Given the description of an element on the screen output the (x, y) to click on. 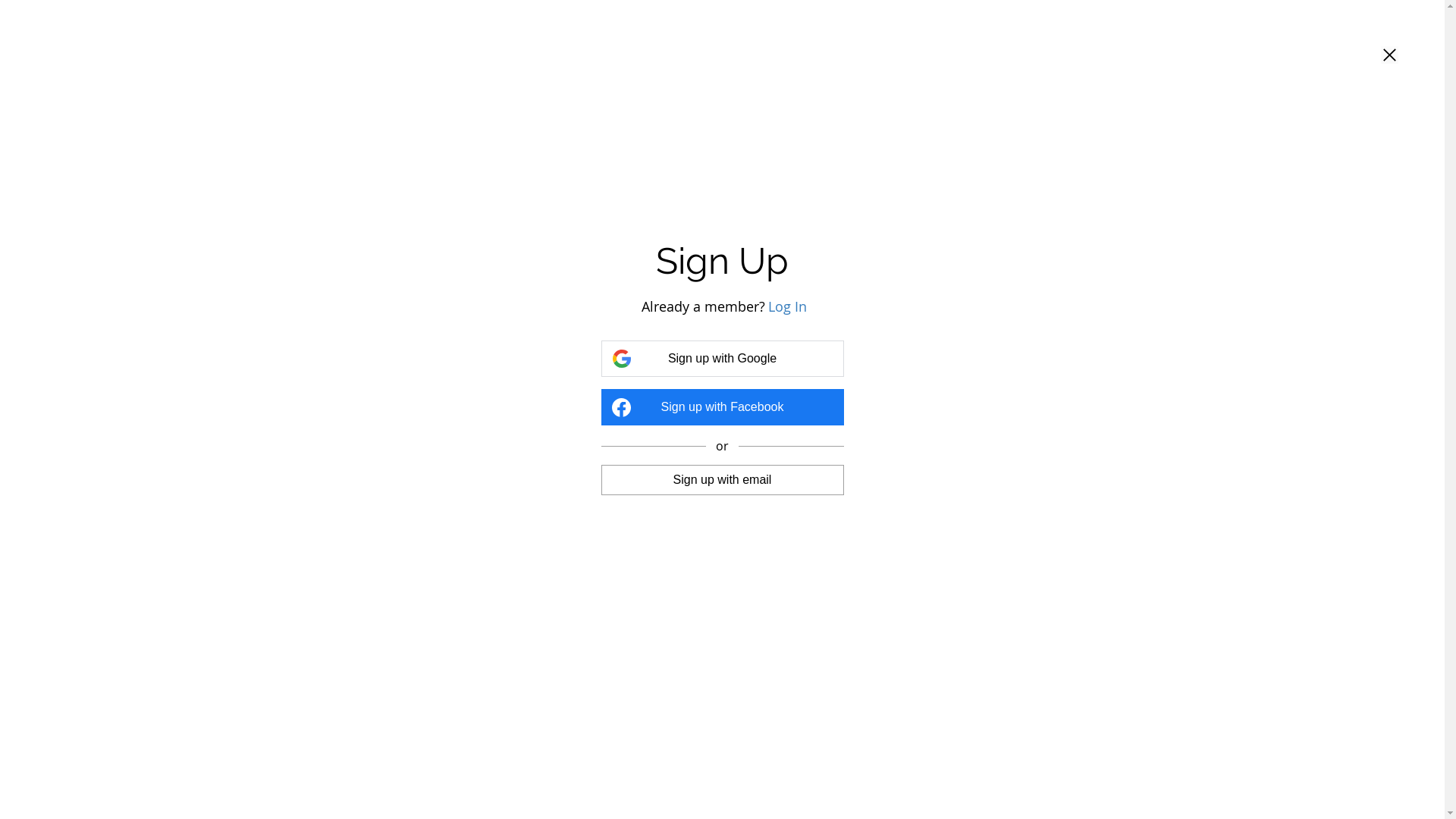
Log In Element type: text (786, 306)
Sign up with Facebook Element type: text (721, 407)
Sign up with email Element type: text (721, 479)
Sign up with Google Element type: text (721, 358)
